Given the description of an element on the screen output the (x, y) to click on. 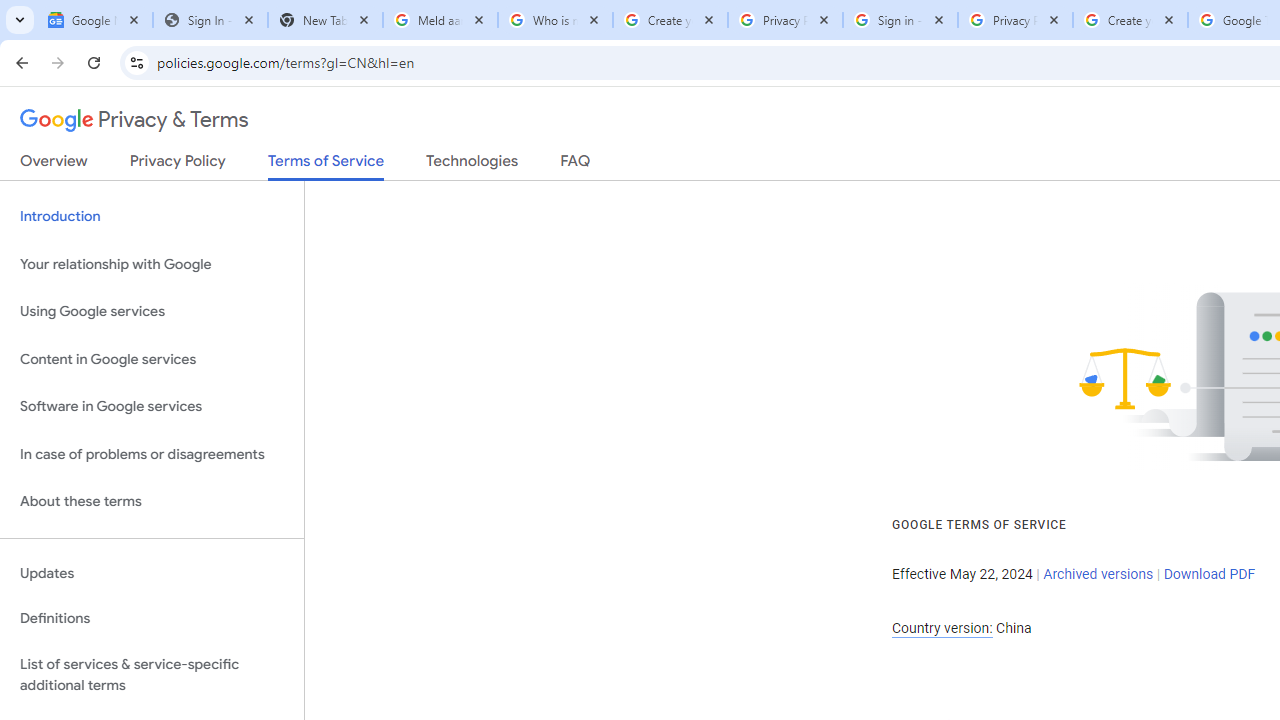
Archived versions (1098, 574)
Content in Google services (152, 358)
